Given the description of an element on the screen output the (x, y) to click on. 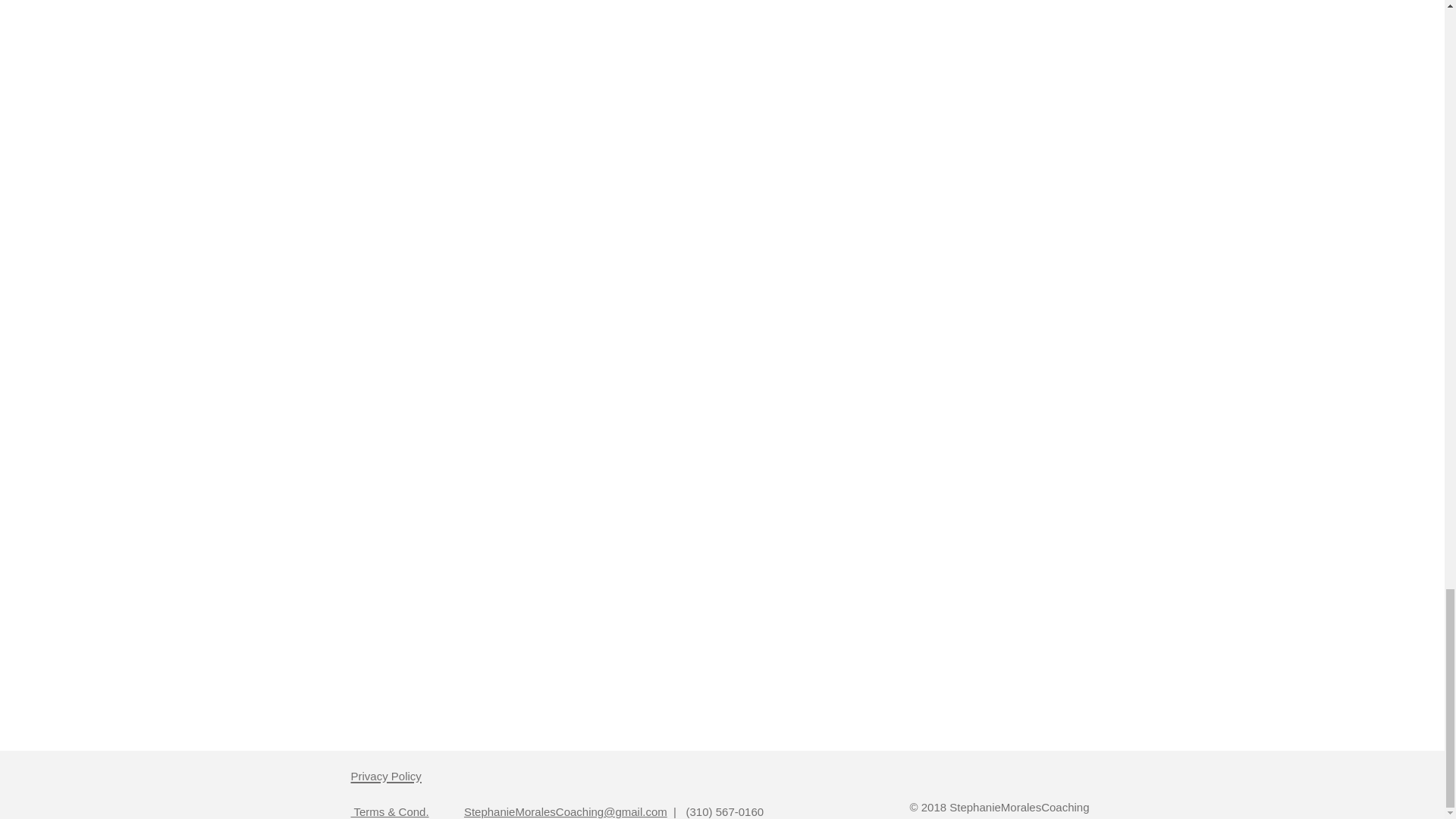
Privacy Policy (385, 772)
